Given the description of an element on the screen output the (x, y) to click on. 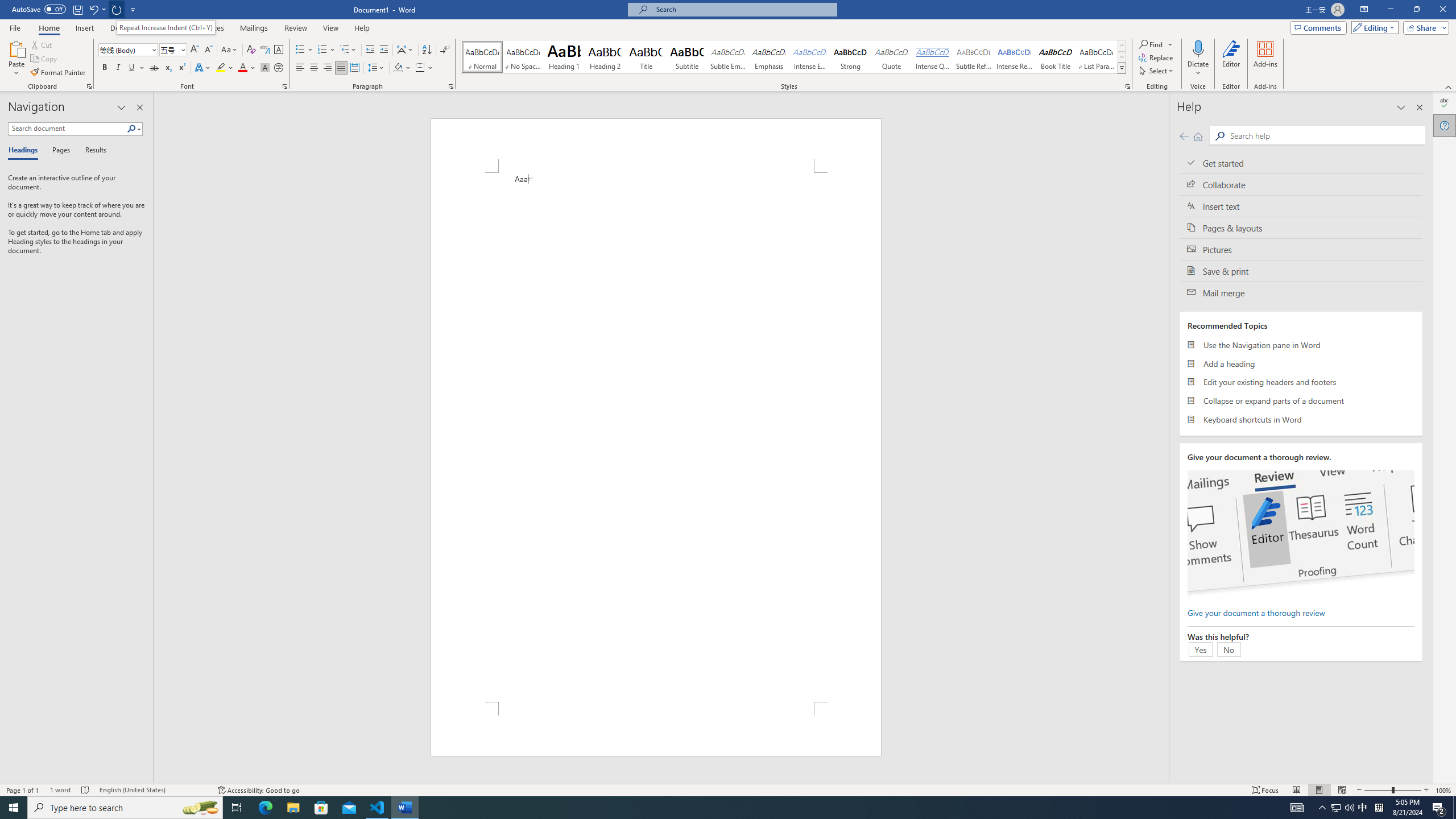
Subtle Reference (973, 56)
Pages & layouts (1300, 228)
Zoom 100% (1443, 790)
